Given the description of an element on the screen output the (x, y) to click on. 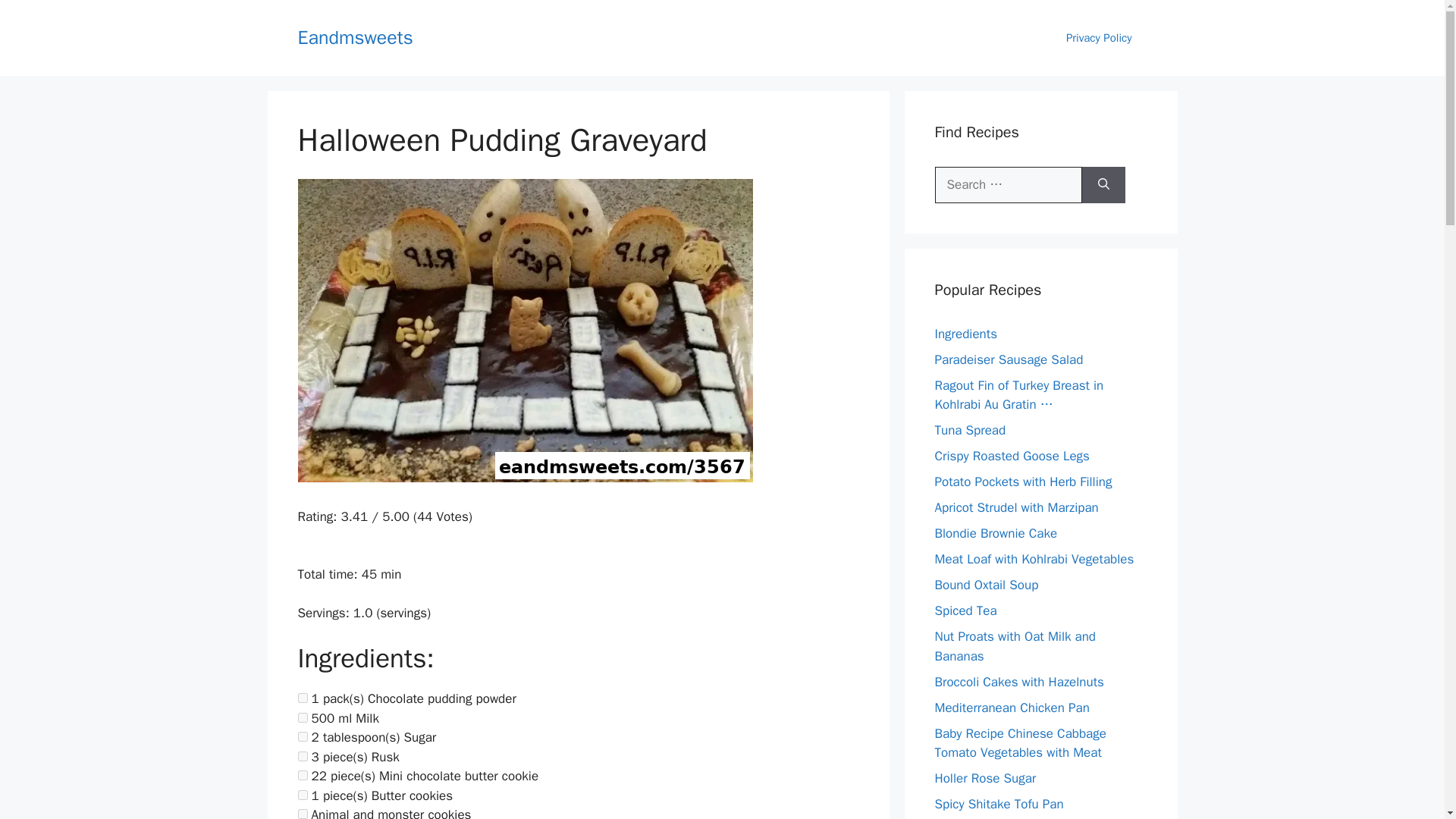
Search for: (1007, 185)
Bound Oxtail Soup (986, 584)
Mediterranean Chicken Pan (1011, 706)
Spiced Tea (964, 610)
Meat Loaf with Kohlrabi Vegetables (1034, 559)
Tuna Spread (970, 430)
Spicy Shitake Tofu Pan (998, 804)
Eandmsweets (354, 37)
Potato Pockets with Herb Filling (1023, 481)
Nut Proats with Oat Milk and Bananas (1015, 646)
Apricot Strudel with Marzipan (1015, 507)
Ingredients (965, 333)
Baby Recipe Chinese Cabbage Tomato Vegetables with Meat (1019, 742)
Blondie Brownie Cake (995, 533)
500 ml Milk (302, 717)
